Given the description of an element on the screen output the (x, y) to click on. 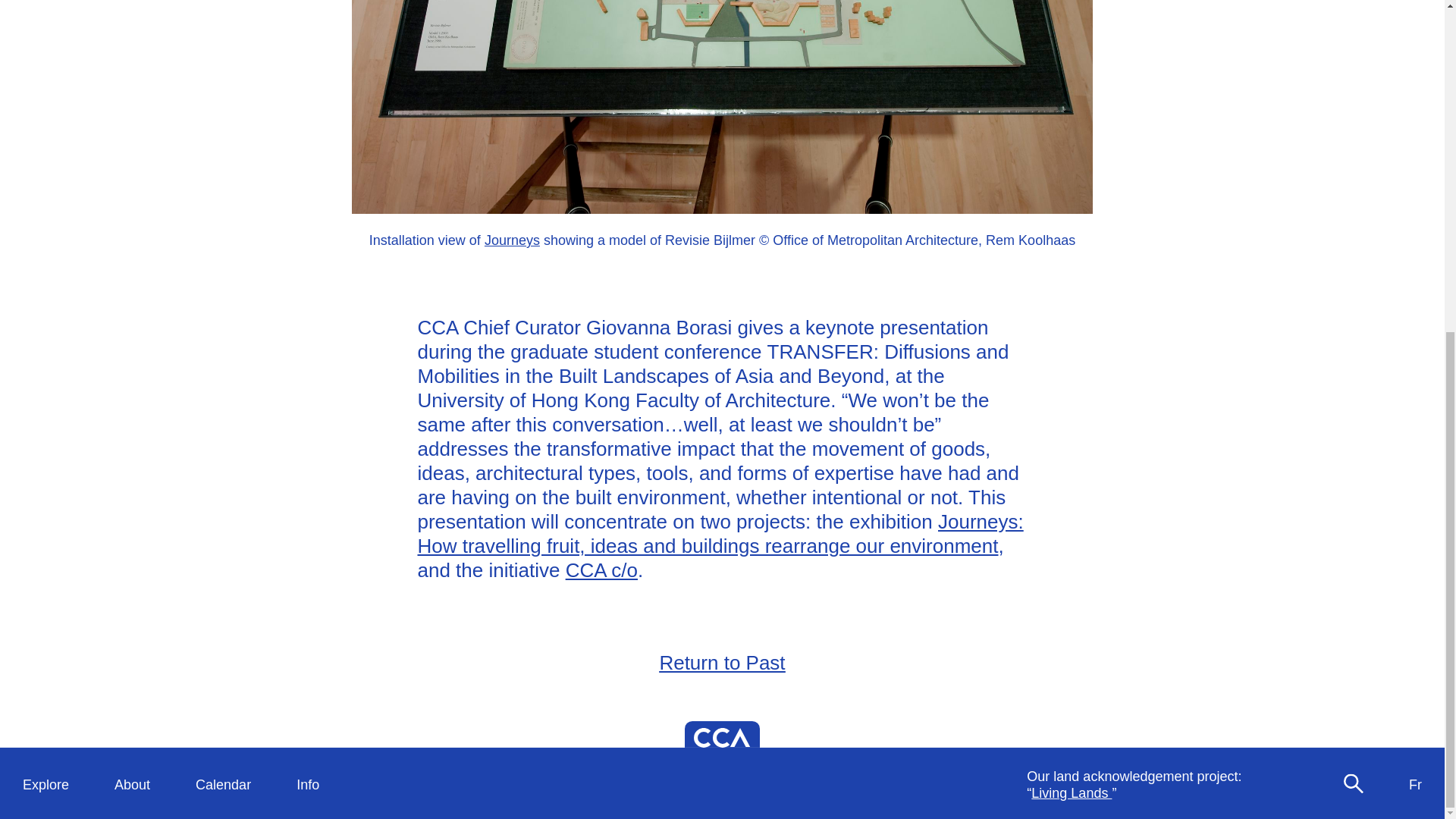
Research (144, 313)
Support us (329, 329)
Terms and Conditions (1267, 403)
Search (1352, 230)
Public programs (163, 363)
Instagram (1222, 353)
Make a gift (1059, 369)
Press room (331, 346)
Opportunities (337, 296)
Visit us (318, 279)
